Given the description of an element on the screen output the (x, y) to click on. 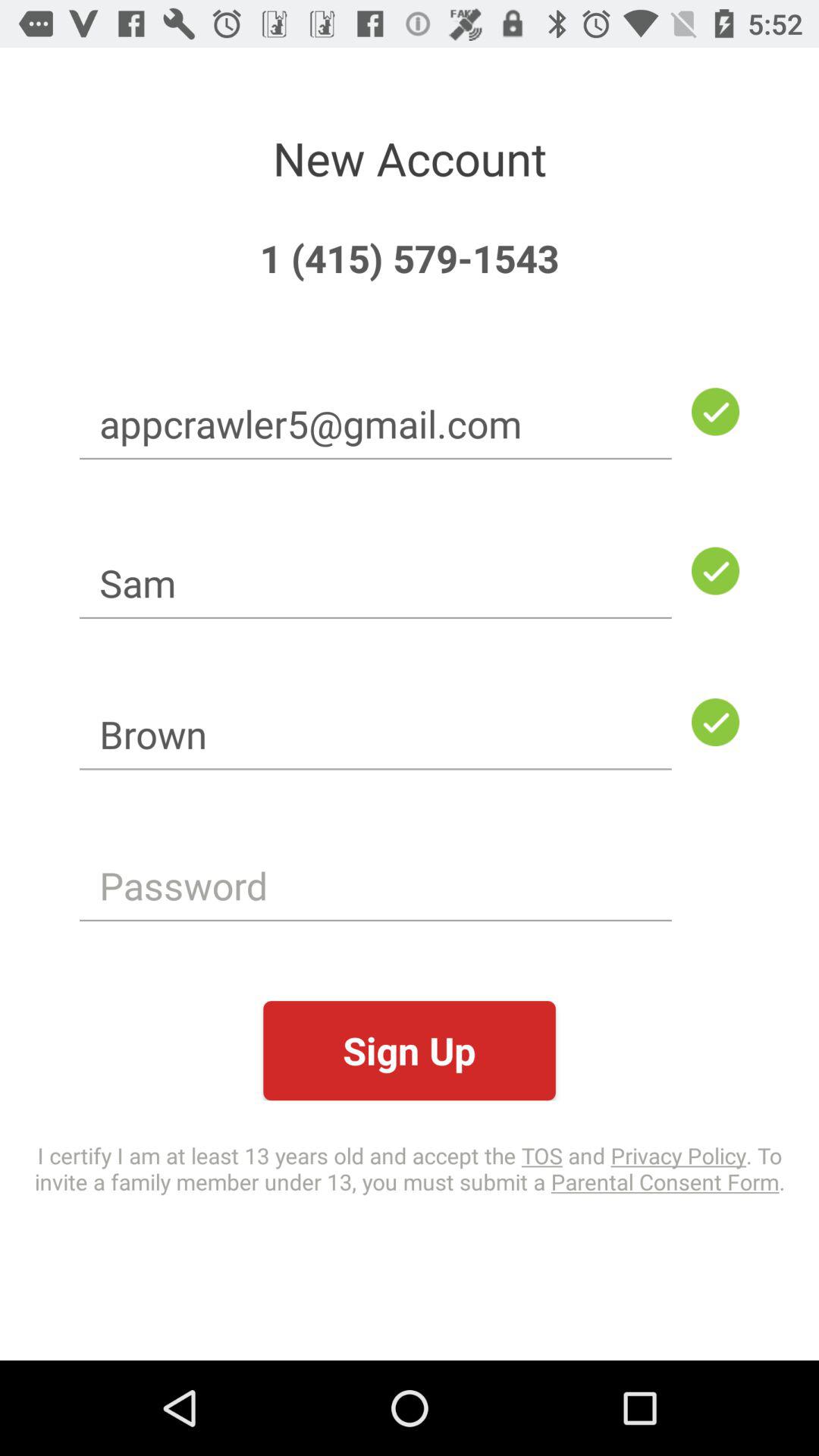
press item below the appcrawler5@gmail.com item (375, 582)
